Given the description of an element on the screen output the (x, y) to click on. 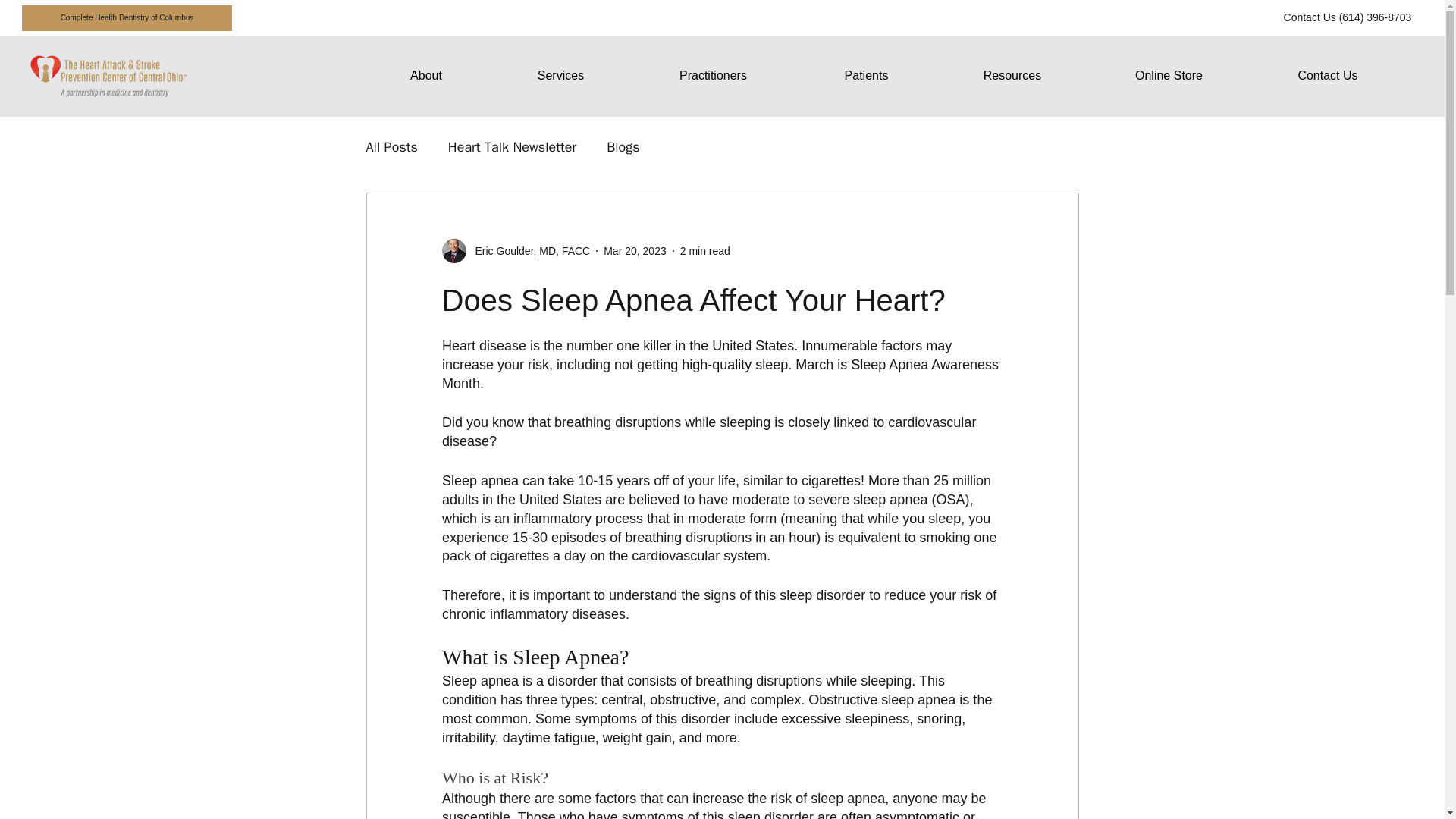
Patients (865, 75)
Contact Us (1327, 75)
Heart Talk Newsletter (512, 147)
Blogs (623, 147)
Services (560, 75)
Complete Health Dentistry of Columbus (126, 17)
All Posts (390, 147)
Eric Goulder, MD, FACC (527, 251)
Online Store (1168, 75)
2 min read (704, 250)
